Given the description of an element on the screen output the (x, y) to click on. 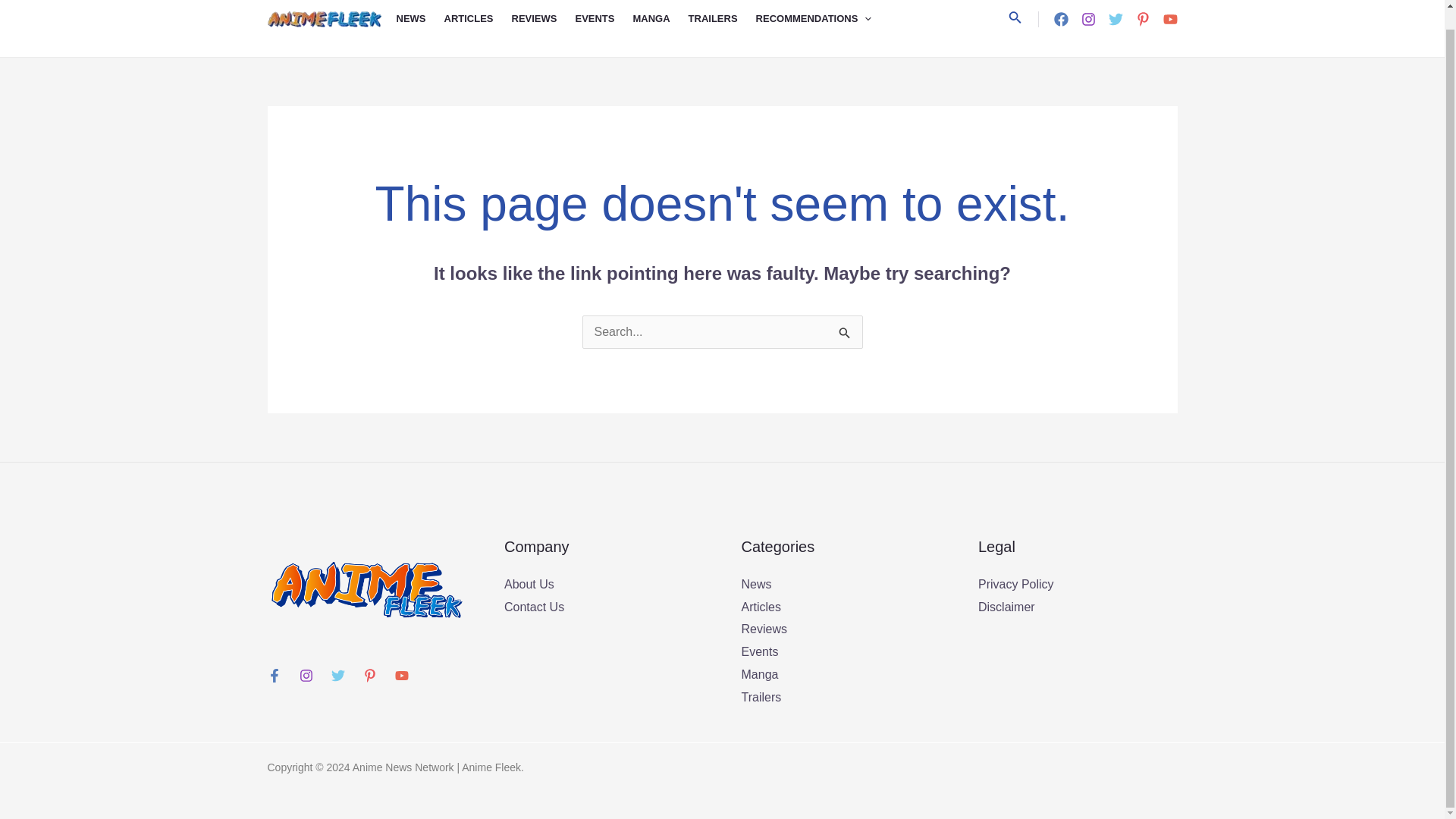
TRAILERS (721, 28)
Search (844, 331)
EVENTS (603, 28)
MANGA (659, 28)
Search (844, 331)
ARTICLES (478, 28)
Search (844, 331)
REVIEWS (543, 28)
RECOMMENDATIONS (822, 28)
